Given the description of an element on the screen output the (x, y) to click on. 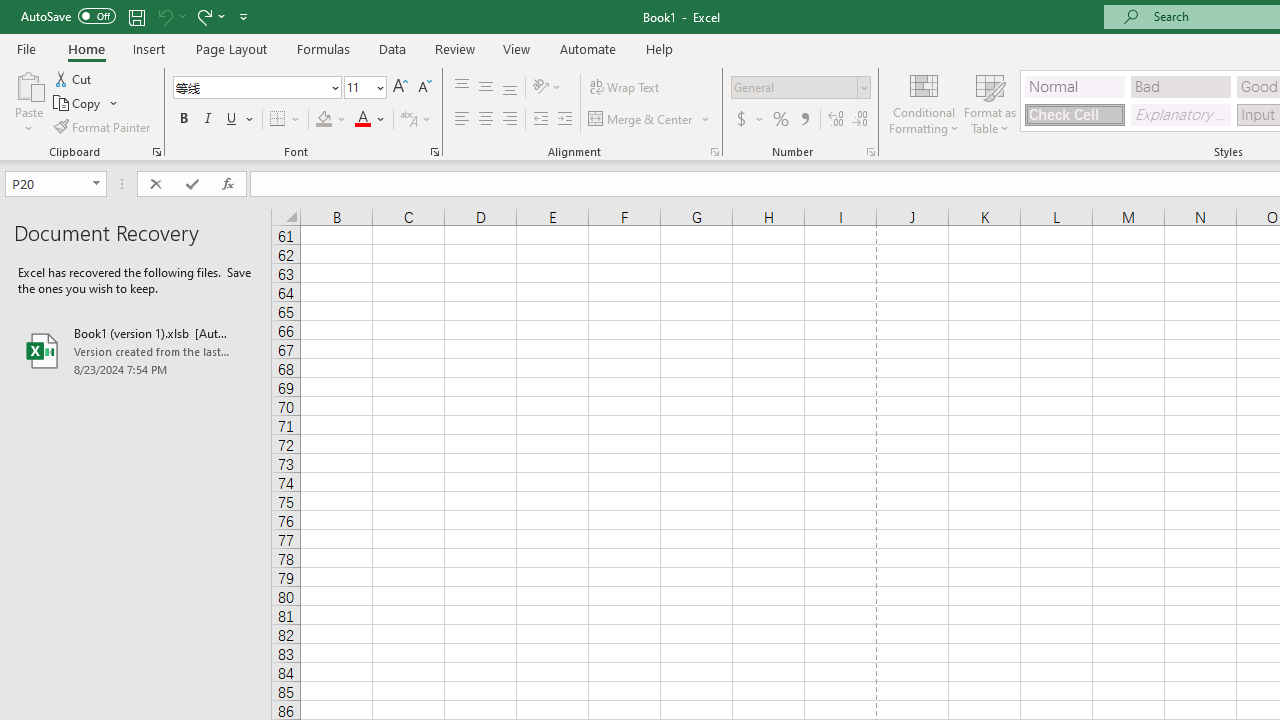
Show Phonetic Field (416, 119)
Decrease Indent (540, 119)
Orientation (547, 87)
